Given the description of an element on the screen output the (x, y) to click on. 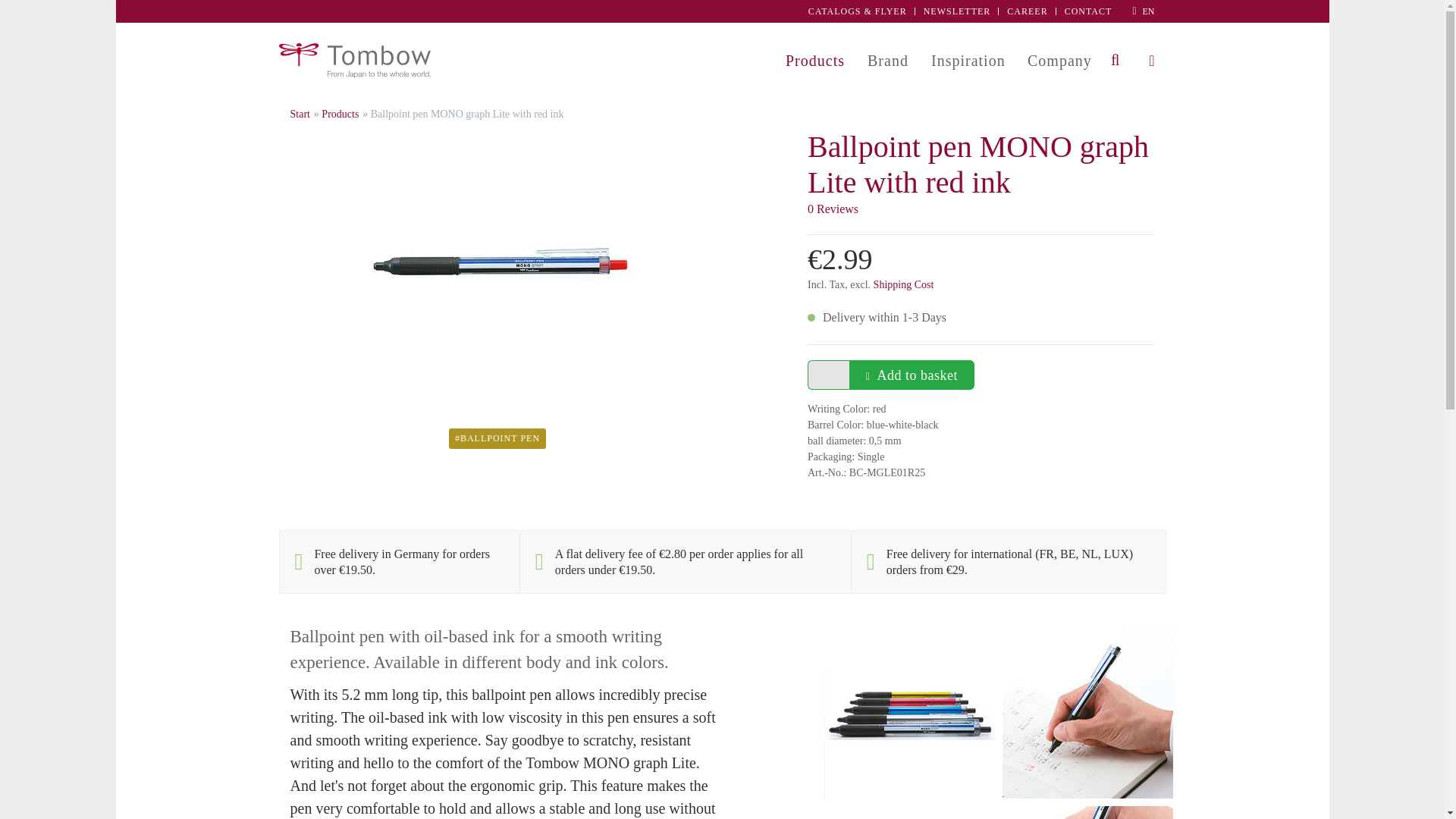
Inspiration (968, 60)
Brand (888, 60)
CAREER (1027, 11)
NEWSLETTER (956, 11)
CONTACT (1087, 11)
Products (815, 60)
